Given the description of an element on the screen output the (x, y) to click on. 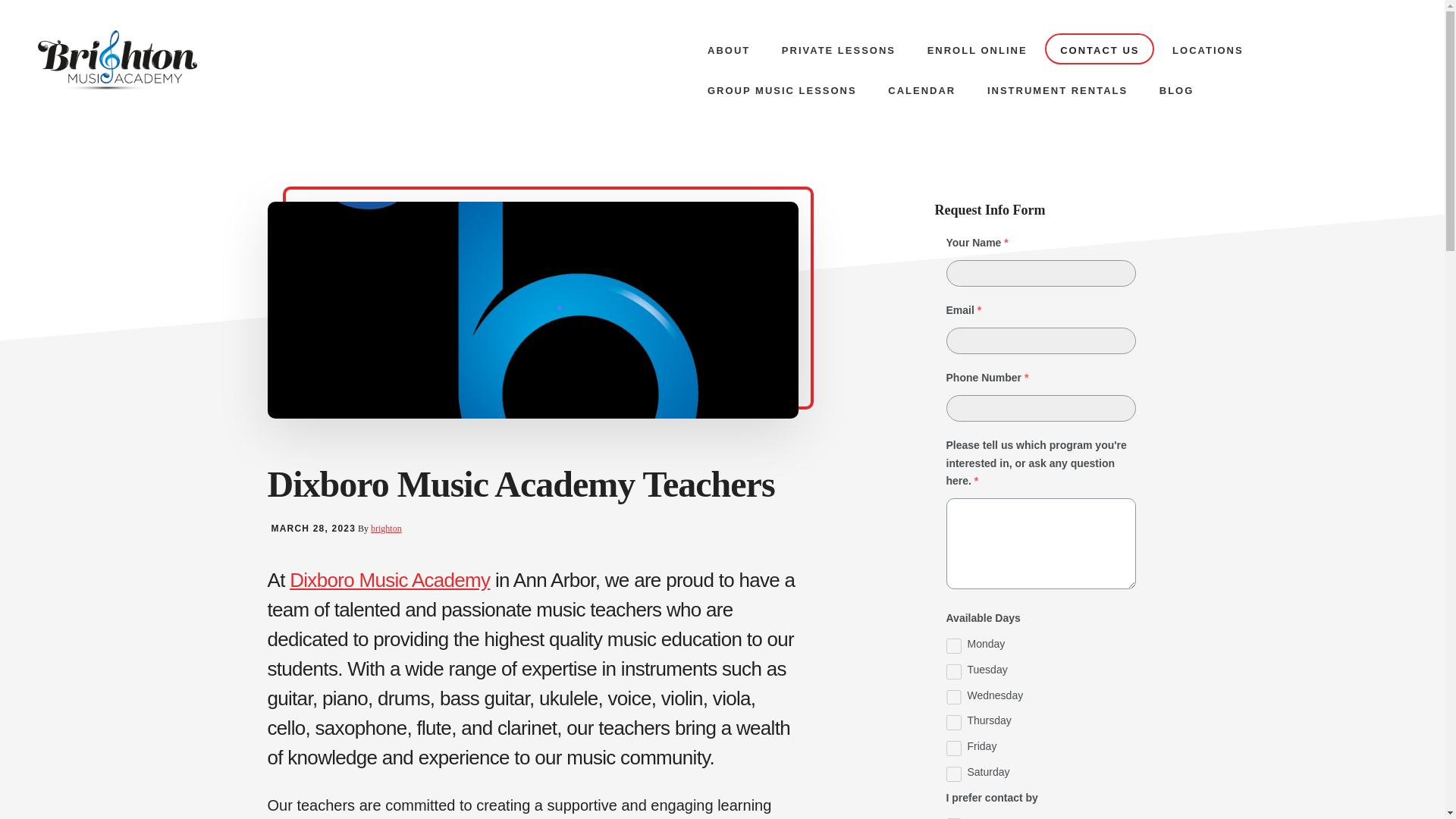
INSTRUMENT RENTALS (1057, 90)
BRIGHTON MUSIC ACADEMY (150, 60)
Wednesday (953, 697)
GROUP MUSIC LESSONS (782, 90)
LOCATIONS (1207, 50)
CALENDAR (922, 90)
Thursday (953, 722)
ABOUT (728, 50)
BLOG (1176, 90)
